Given the description of an element on the screen output the (x, y) to click on. 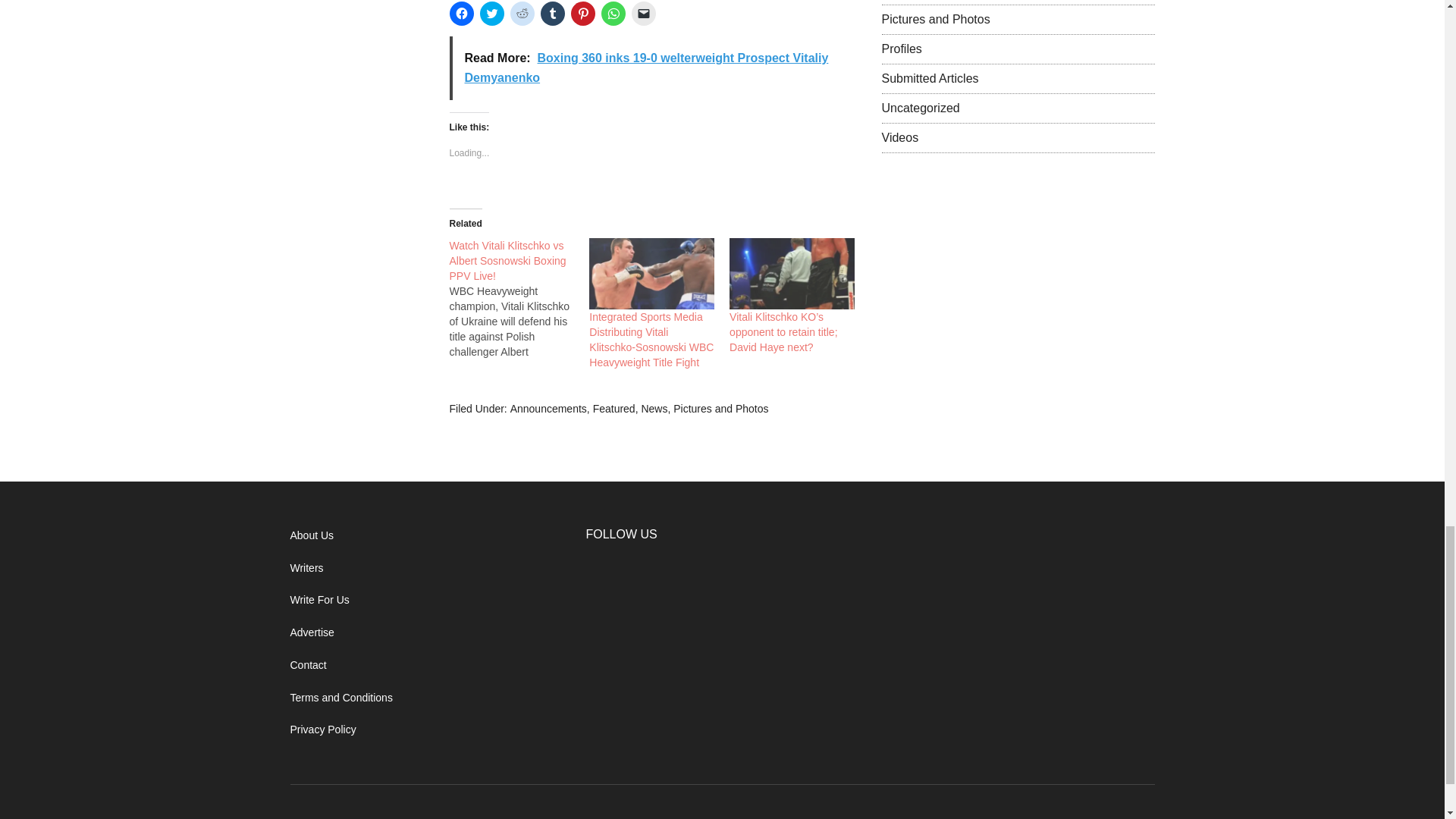
Click to share on Twitter (491, 13)
Featured (613, 408)
Click to share on Tumblr (552, 13)
Pictures and Photos (720, 408)
Announcements (548, 408)
Watch Vitali Klitschko vs Albert Sosnowski Boxing PPV Live! (507, 260)
Watch Vitali Klitschko vs Albert Sosnowski Boxing PPV Live! (518, 298)
News (653, 408)
Click to share on Pinterest (582, 13)
